Given the description of an element on the screen output the (x, y) to click on. 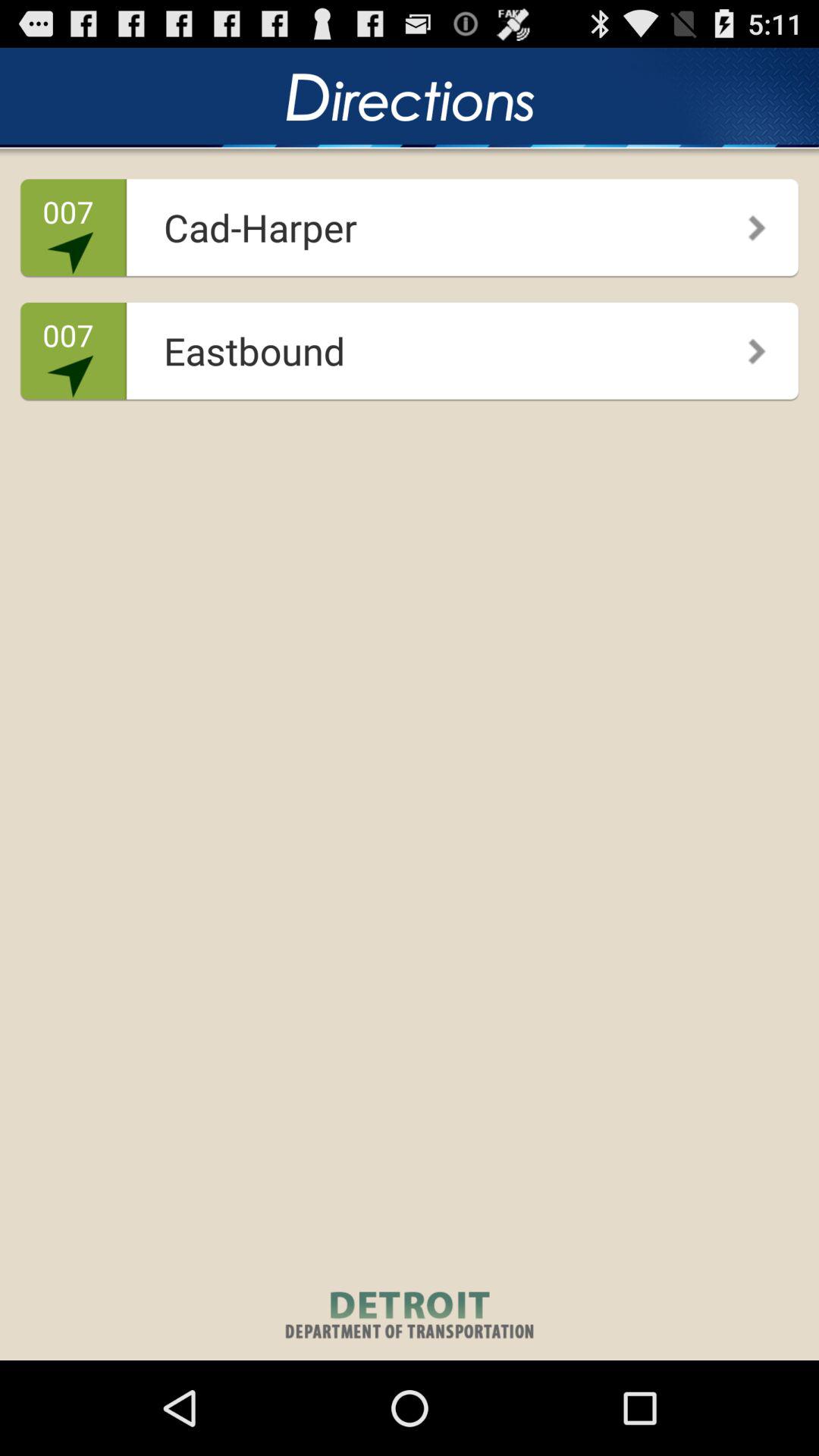
open the item to the right of the 007 app (404, 222)
